Given the description of an element on the screen output the (x, y) to click on. 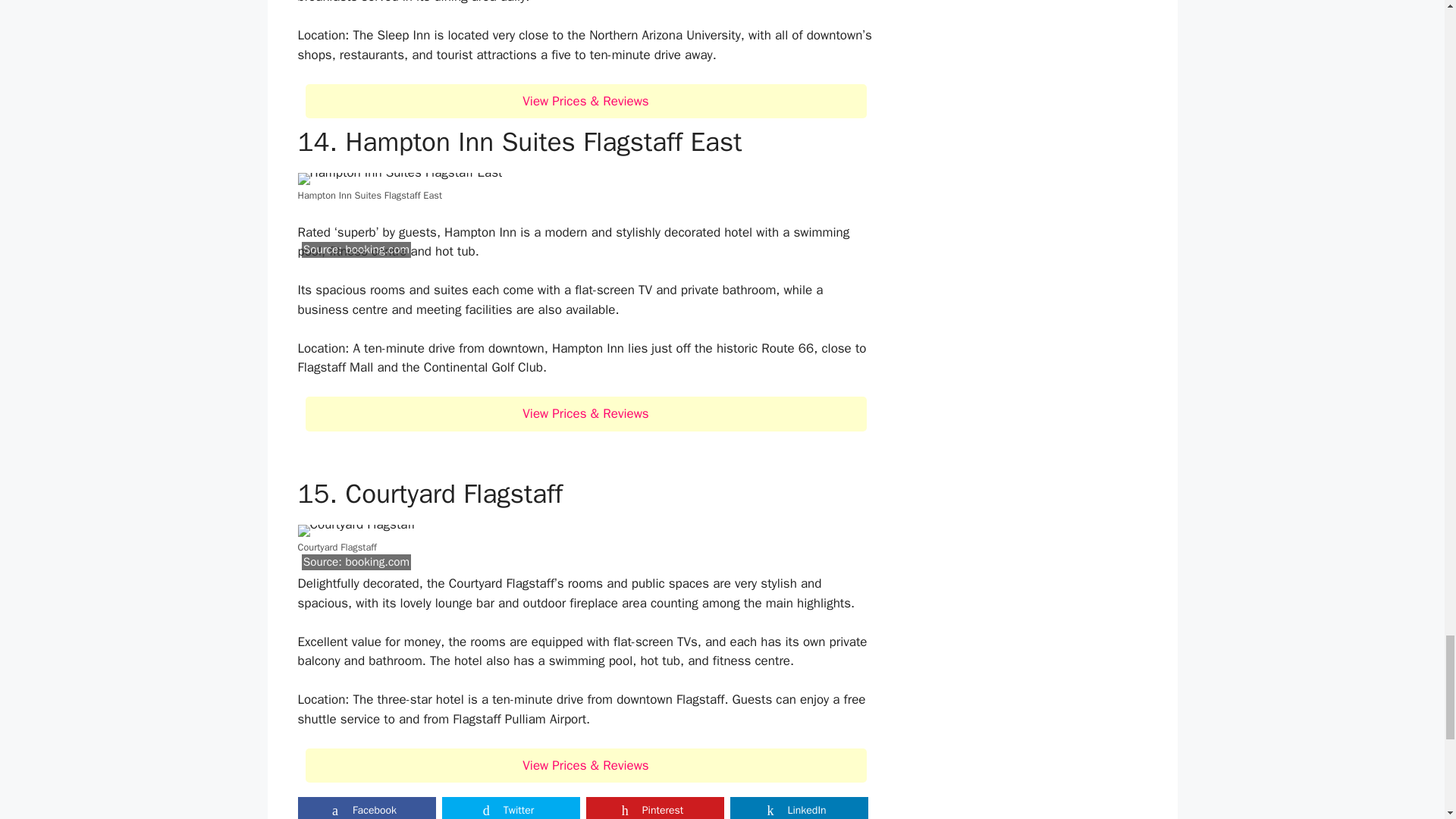
Share on Facebook (366, 807)
Share on LinkedIn (798, 807)
Share on Twitter (510, 807)
Share on Pinterest (654, 807)
